Given the description of an element on the screen output the (x, y) to click on. 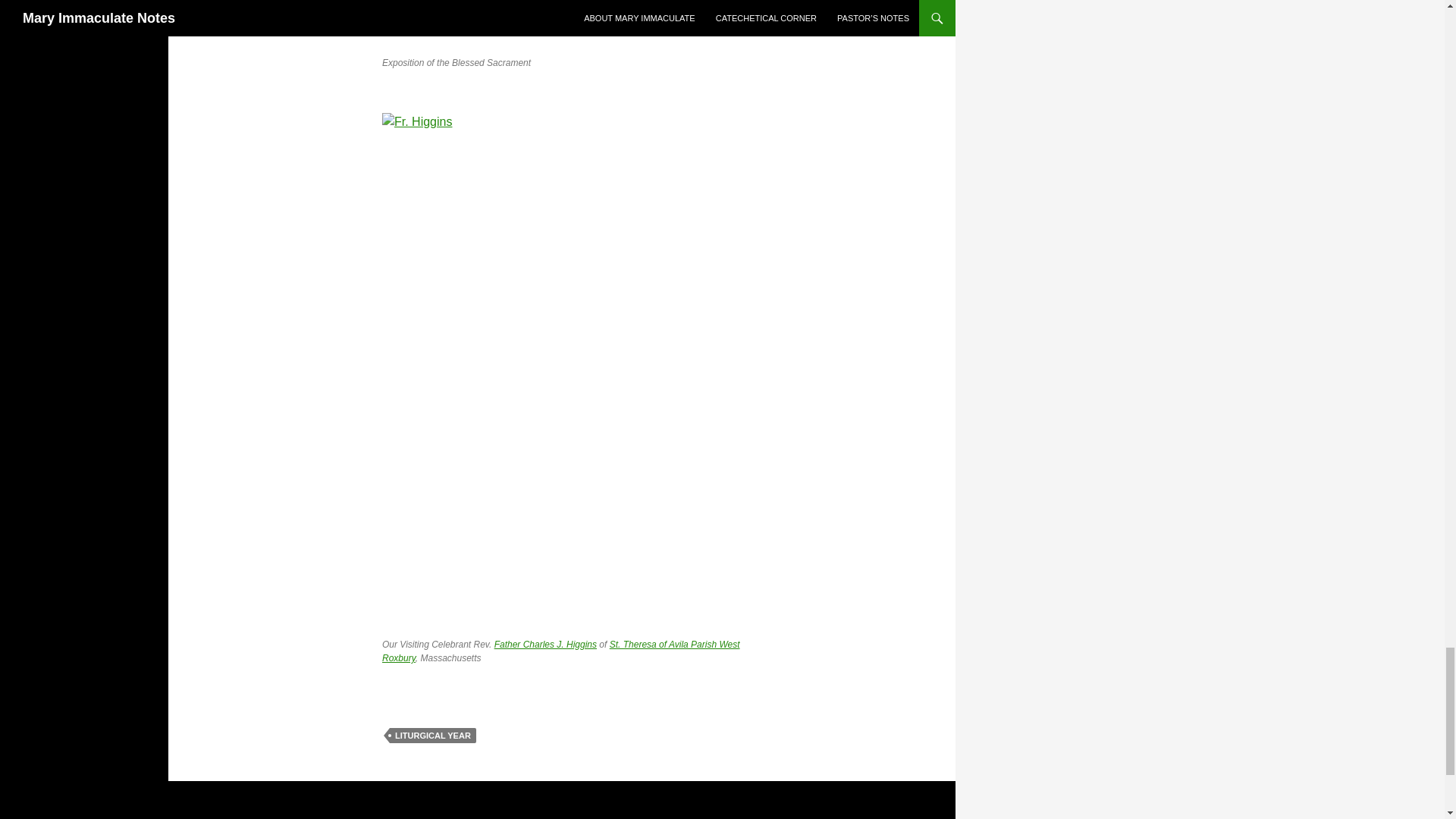
Father Charles J. Higgins (545, 644)
St. Theresa of Avila Parish West Roxbury (560, 651)
LITURGICAL YEAR (433, 735)
